Given the description of an element on the screen output the (x, y) to click on. 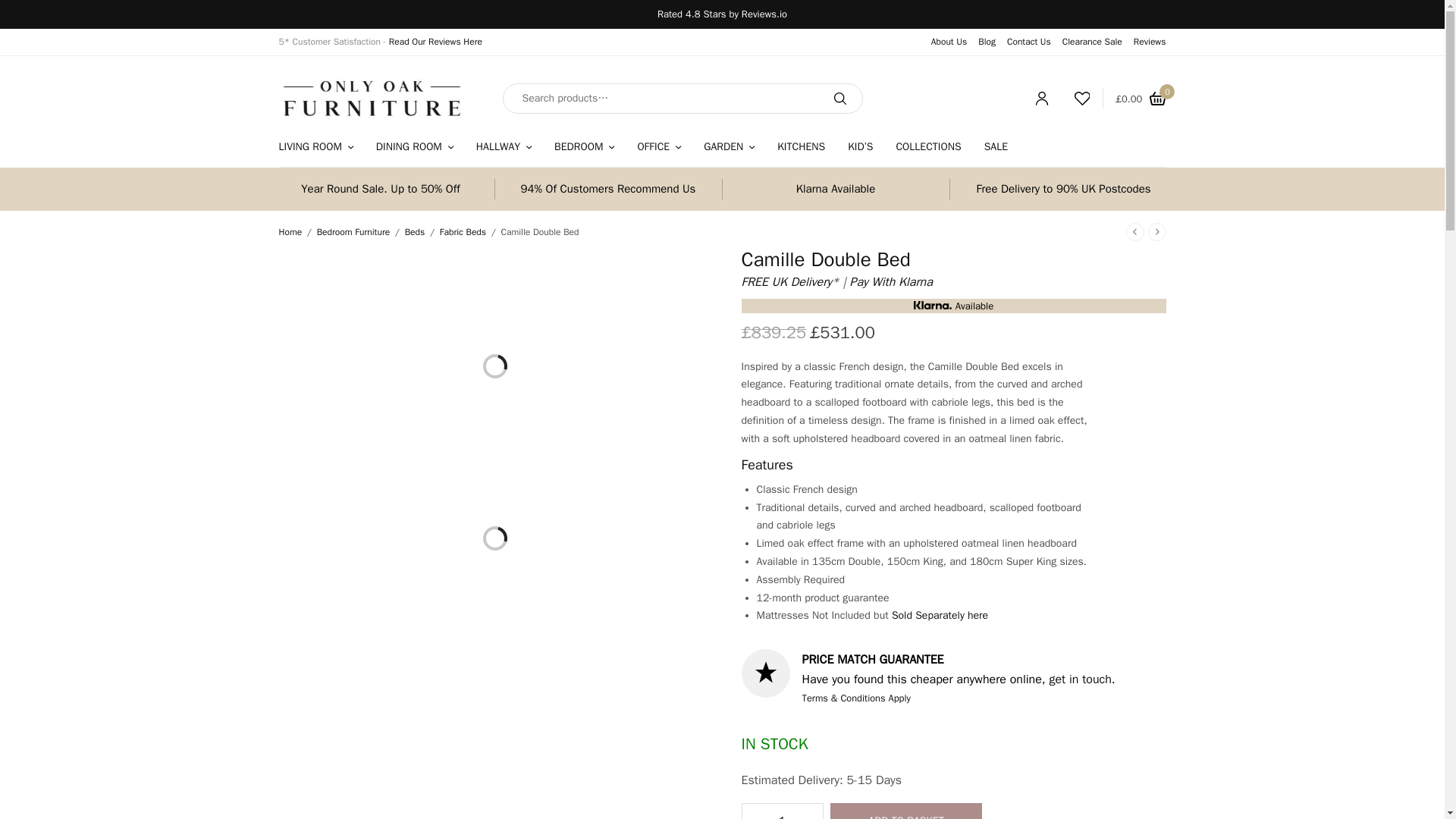
LIVING ROOM (316, 146)
Search (839, 98)
camille bed dressed plain (596, 511)
camille bed footboard detail (539, 511)
Camille Double Bed (305, 511)
Contact Us (1029, 41)
camille bed leg detail (422, 511)
Clearance Sale (1092, 41)
Reviews.io (764, 13)
